Given the description of an element on the screen output the (x, y) to click on. 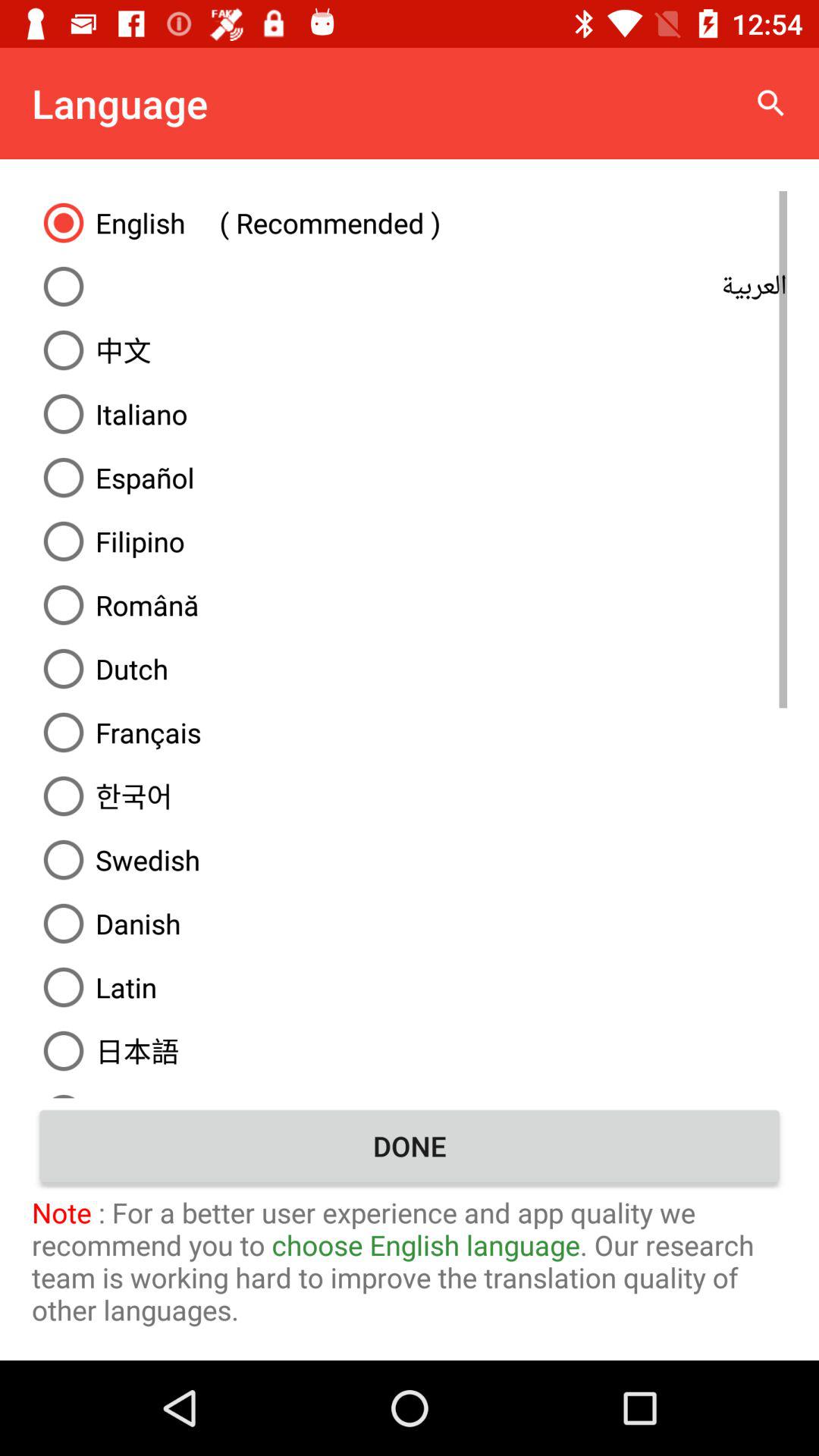
flip to the swedish (409, 859)
